Given the description of an element on the screen output the (x, y) to click on. 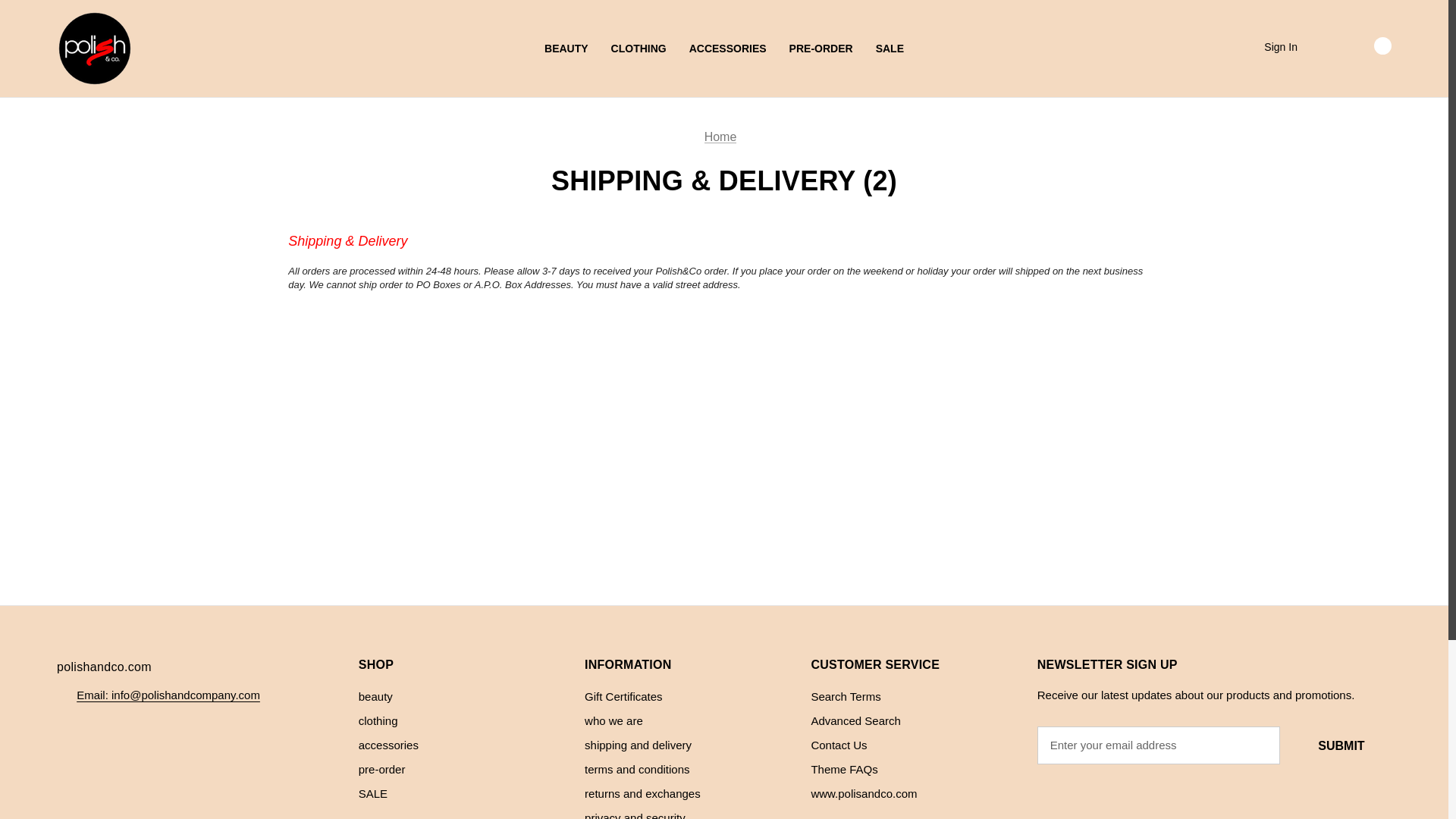
ACCESSORIES (727, 48)
polishandco (94, 48)
PRE-ORDER (820, 48)
Submit (1341, 745)
BEAUTY (565, 48)
SALE (889, 48)
Sign In (1280, 47)
CLOTHING (638, 48)
